Given the description of an element on the screen output the (x, y) to click on. 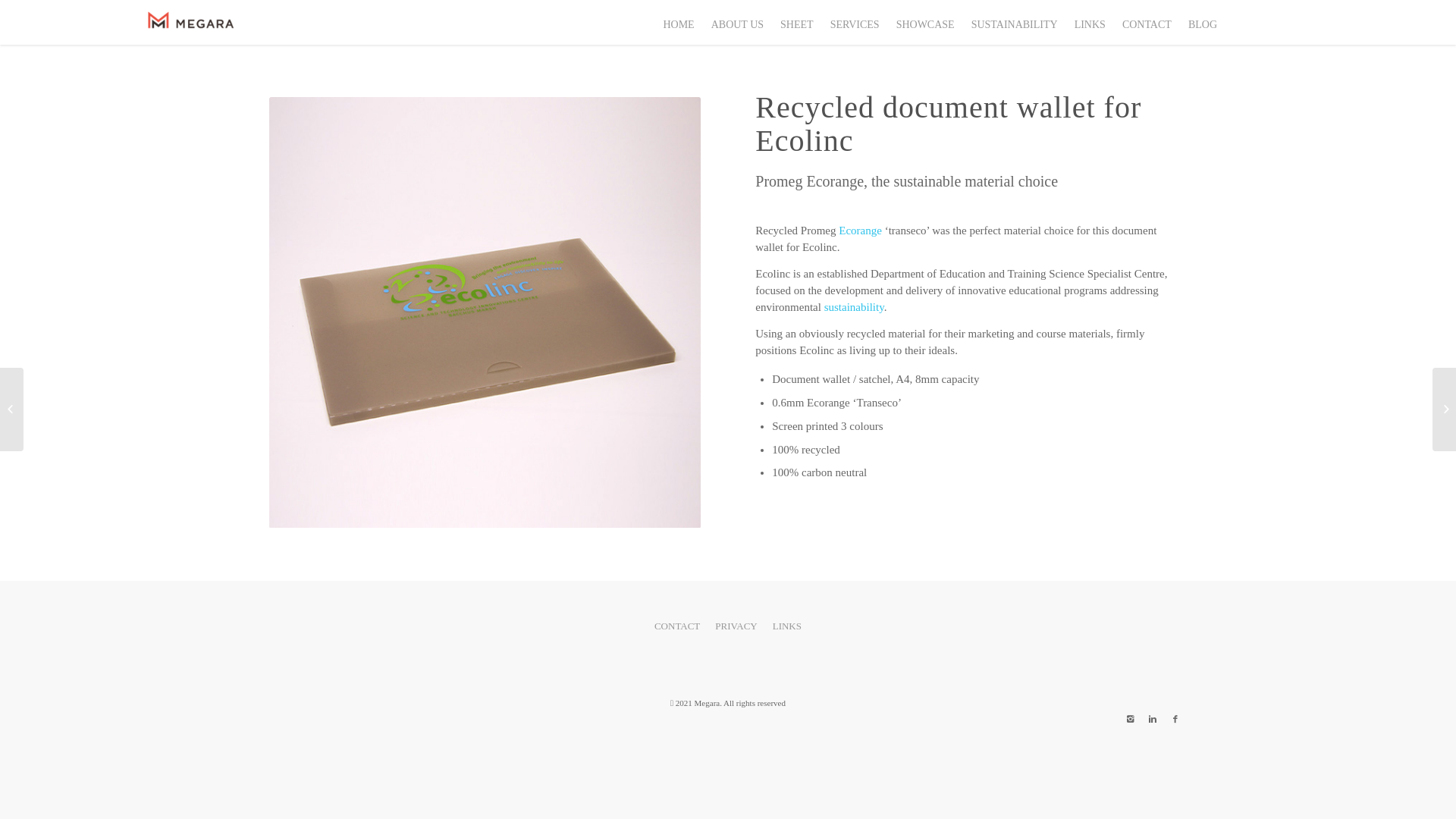
SERVICES Element type: text (854, 21)
BLOG Element type: text (1201, 21)
Ecorange Element type: text (859, 230)
PRIVACY Element type: text (735, 626)
SUSTAINABILITY Element type: text (1013, 21)
Instagram Element type: hover (1129, 718)
sustainability Element type: text (854, 307)
LINKS Element type: text (1089, 21)
HOME Element type: text (677, 21)
Promeg polypropylene satchels and wallets, Megara Element type: hover (484, 312)
Linkedin Element type: hover (1152, 718)
CONTACT Element type: text (676, 626)
ABOUT US Element type: text (736, 21)
LINKS Element type: text (787, 626)
Facebook Element type: hover (1175, 718)
CONTACT Element type: text (1146, 21)
SHEET Element type: text (796, 21)
SHOWCASE Element type: text (924, 21)
